Given the description of an element on the screen output the (x, y) to click on. 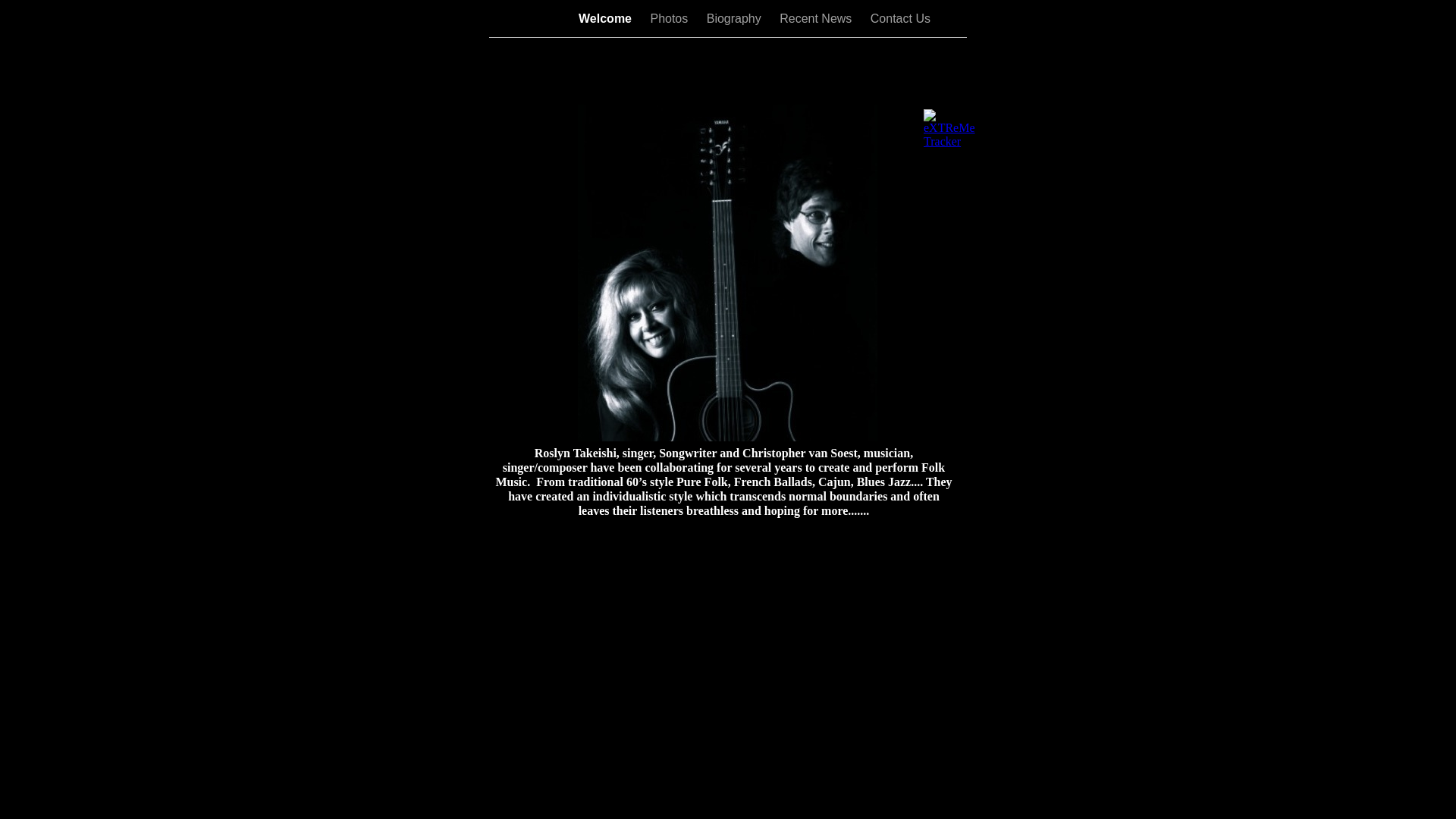
Biography Element type: text (735, 18)
Photos Element type: text (669, 18)
Welcome Element type: text (606, 18)
Welcome_files/droppedImage.pdf Element type: hover (727, 440)
Recent News Element type: text (817, 18)
Contact Us Element type: text (900, 18)
